Given the description of an element on the screen output the (x, y) to click on. 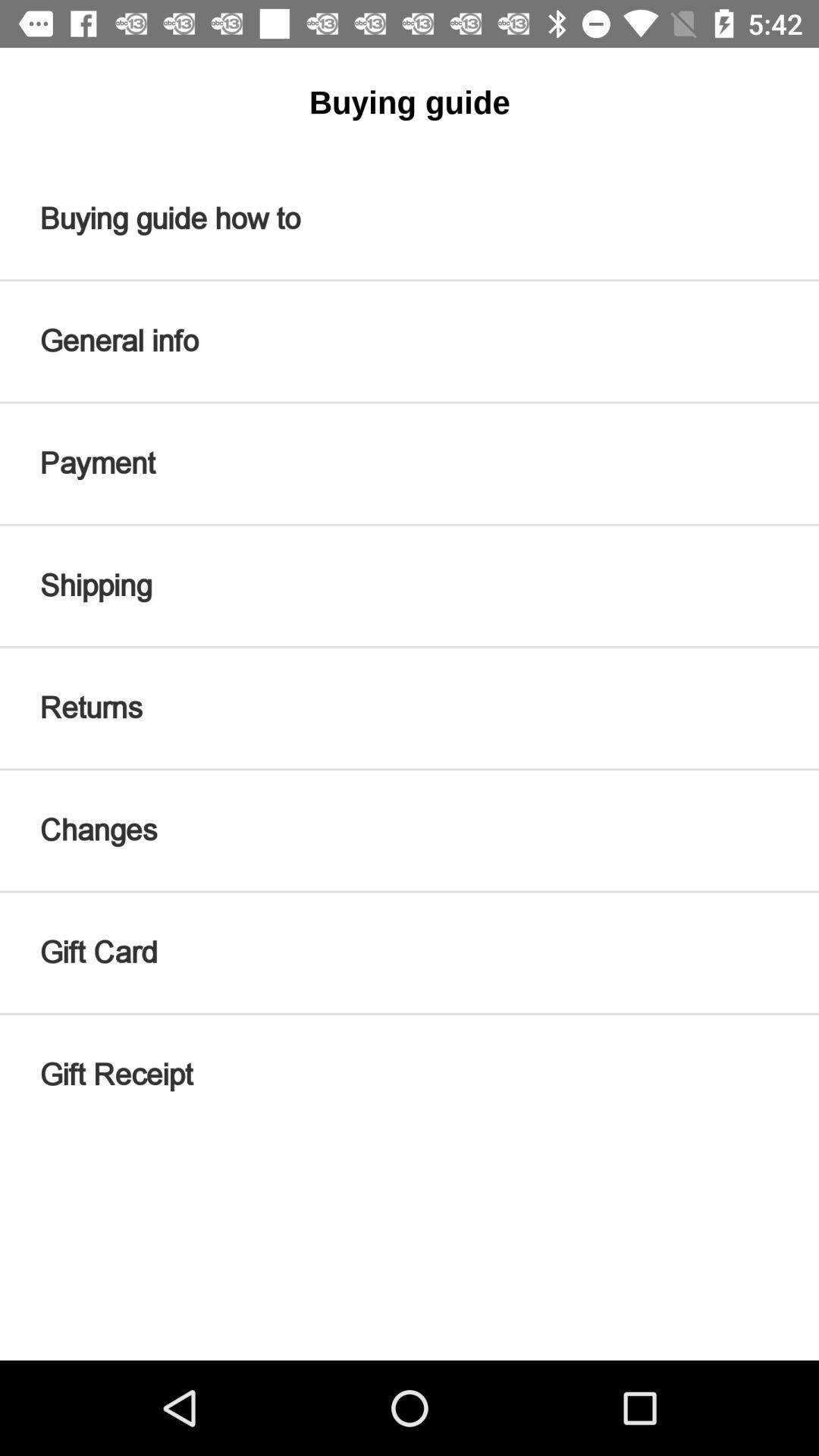
jump to the changes icon (409, 830)
